Given the description of an element on the screen output the (x, y) to click on. 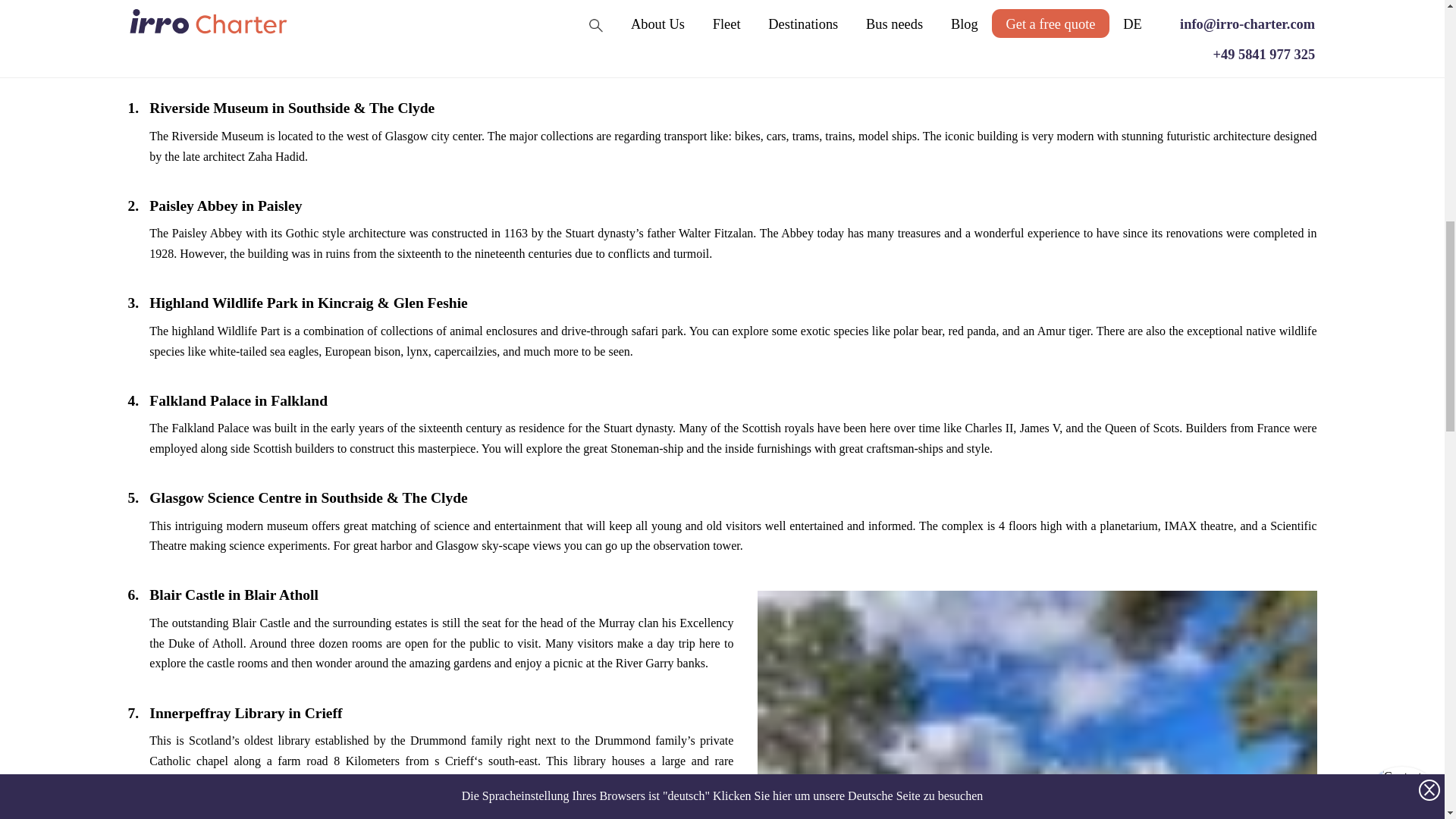
Blair Castle in Blair Atholl (1036, 704)
